Given the description of an element on the screen output the (x, y) to click on. 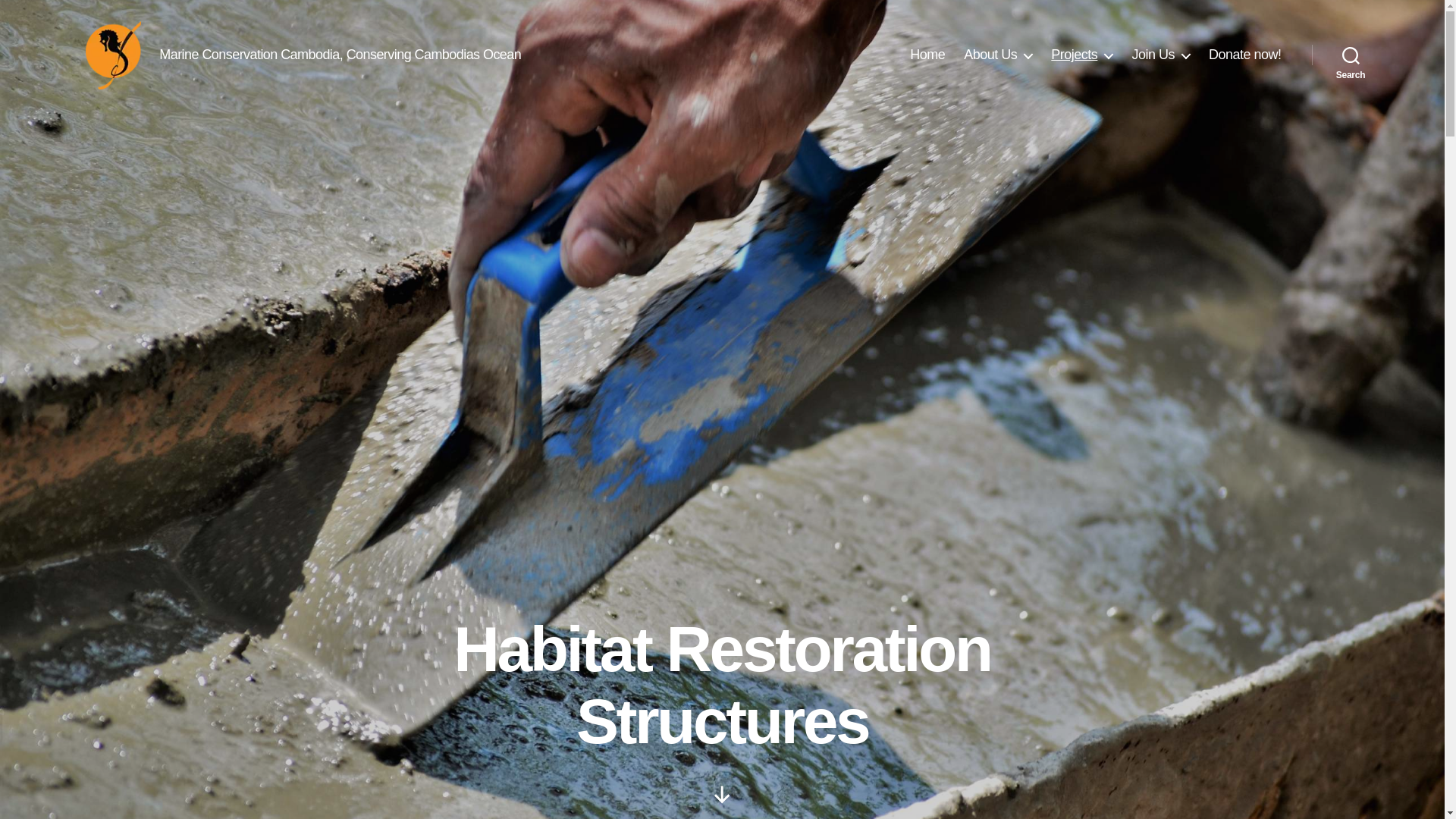
Join Us (1160, 54)
Projects (1081, 54)
Home (927, 54)
Search (1350, 55)
Donate now! (1244, 54)
About Us (997, 54)
